Given the description of an element on the screen output the (x, y) to click on. 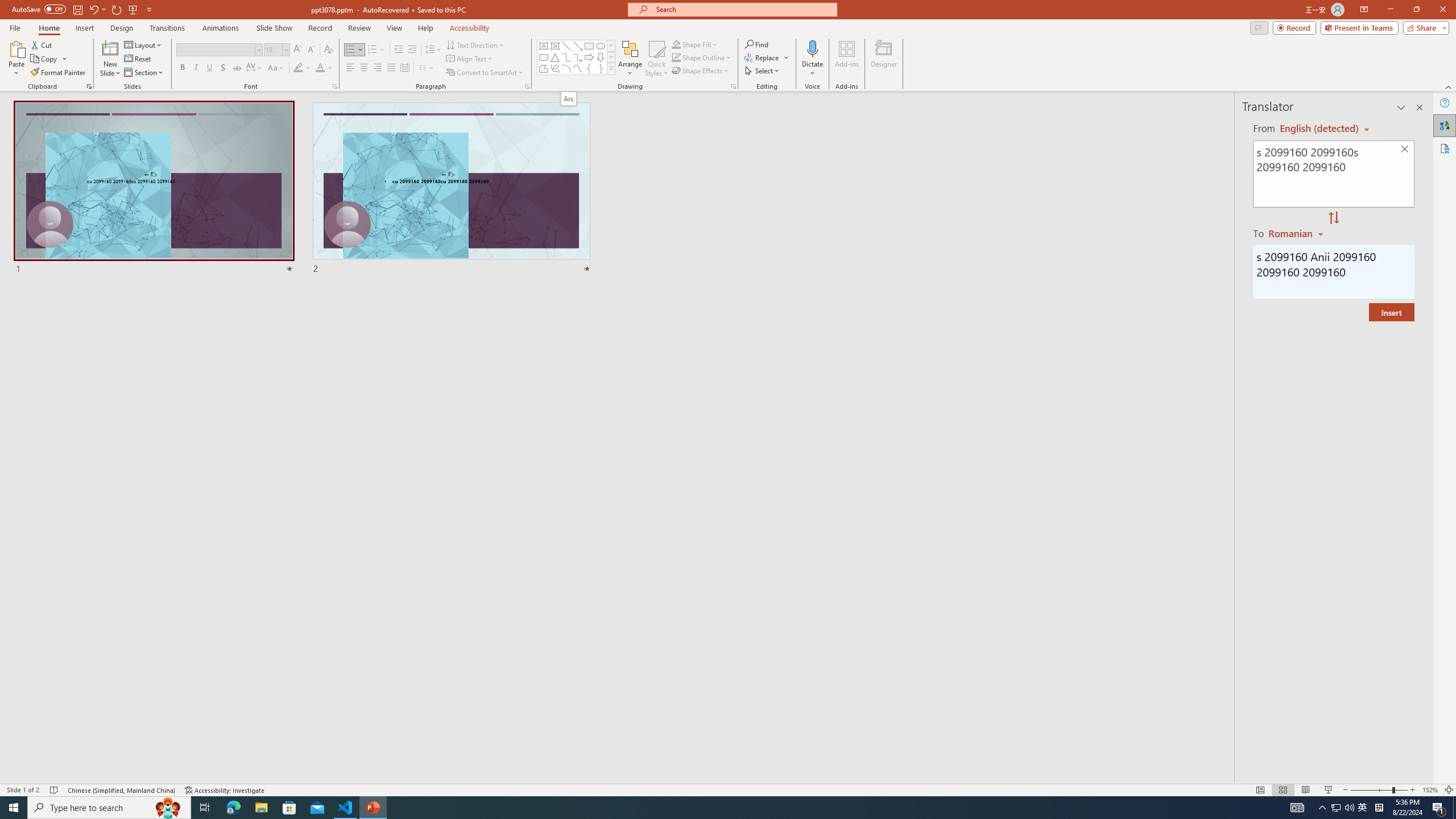
Arrow: Right (589, 57)
Underline (209, 67)
Format Painter (58, 72)
Character Spacing (254, 67)
Office Clipboard... (88, 85)
Right Brace (600, 68)
Increase Font Size (297, 49)
Shapes (611, 68)
Romanian (1296, 232)
Rectangle (589, 45)
